Given the description of an element on the screen output the (x, y) to click on. 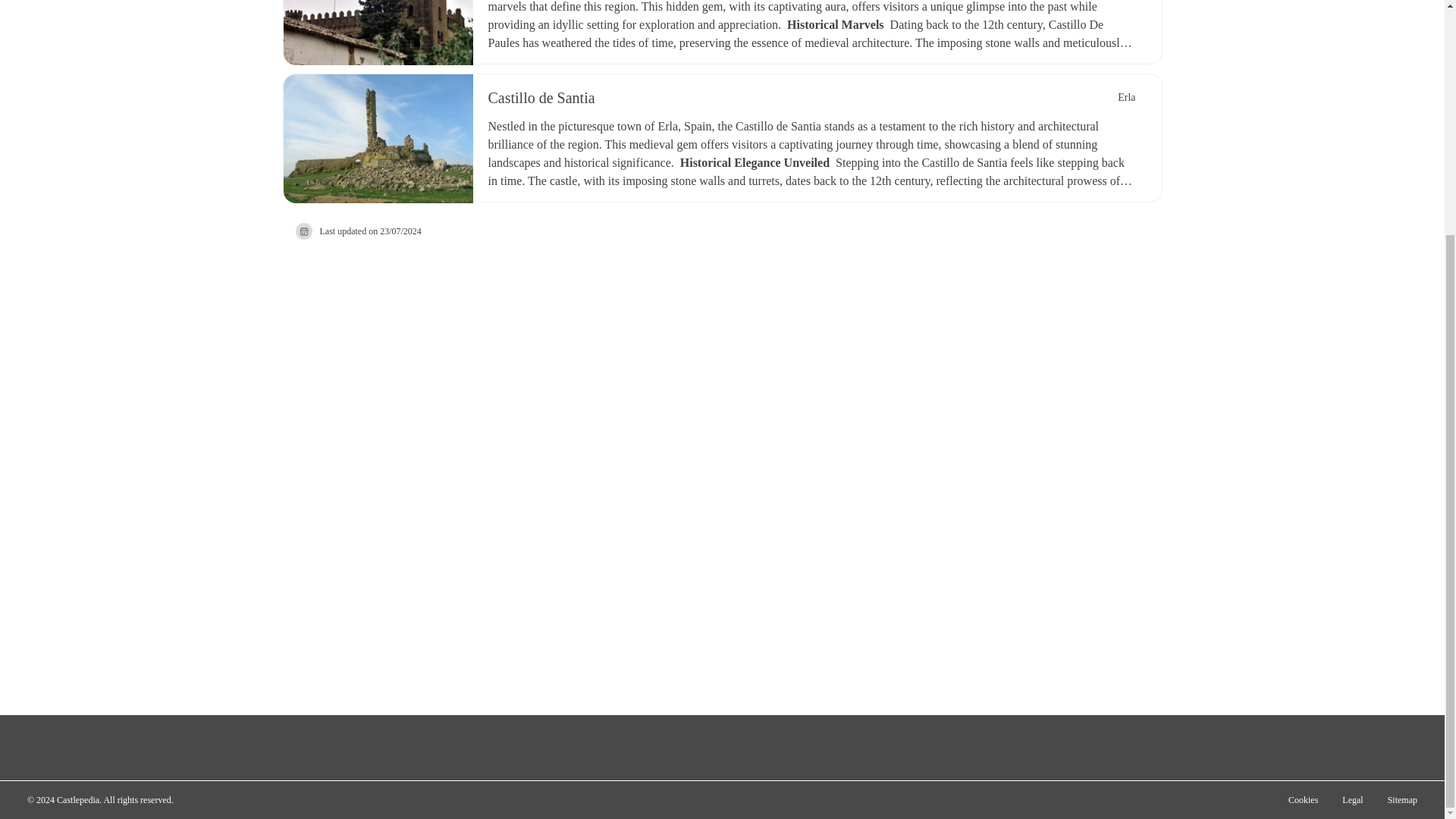
Cookies (1303, 799)
Sitemap (1402, 799)
Legal (1352, 799)
